Given the description of an element on the screen output the (x, y) to click on. 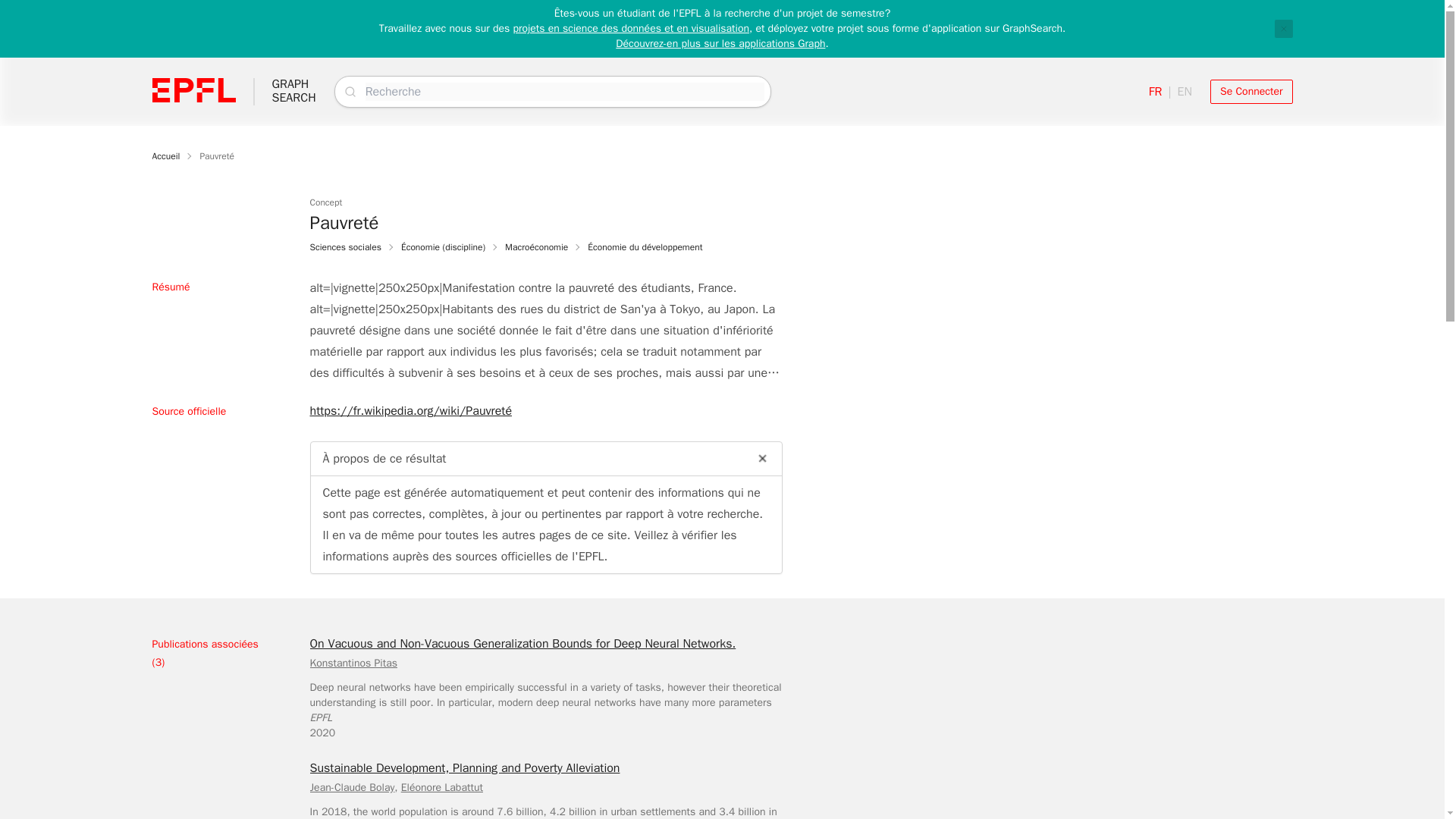
Sciences sociales (292, 90)
Konstantinos Pitas (344, 246)
Sustainable Development, Planning and Poverty Alleviation (352, 662)
Se Connecter (464, 767)
EN (1250, 91)
Accueil (1184, 91)
Close notification (165, 155)
Jean-Claude Bolay (1283, 28)
FR (351, 787)
